Given the description of an element on the screen output the (x, y) to click on. 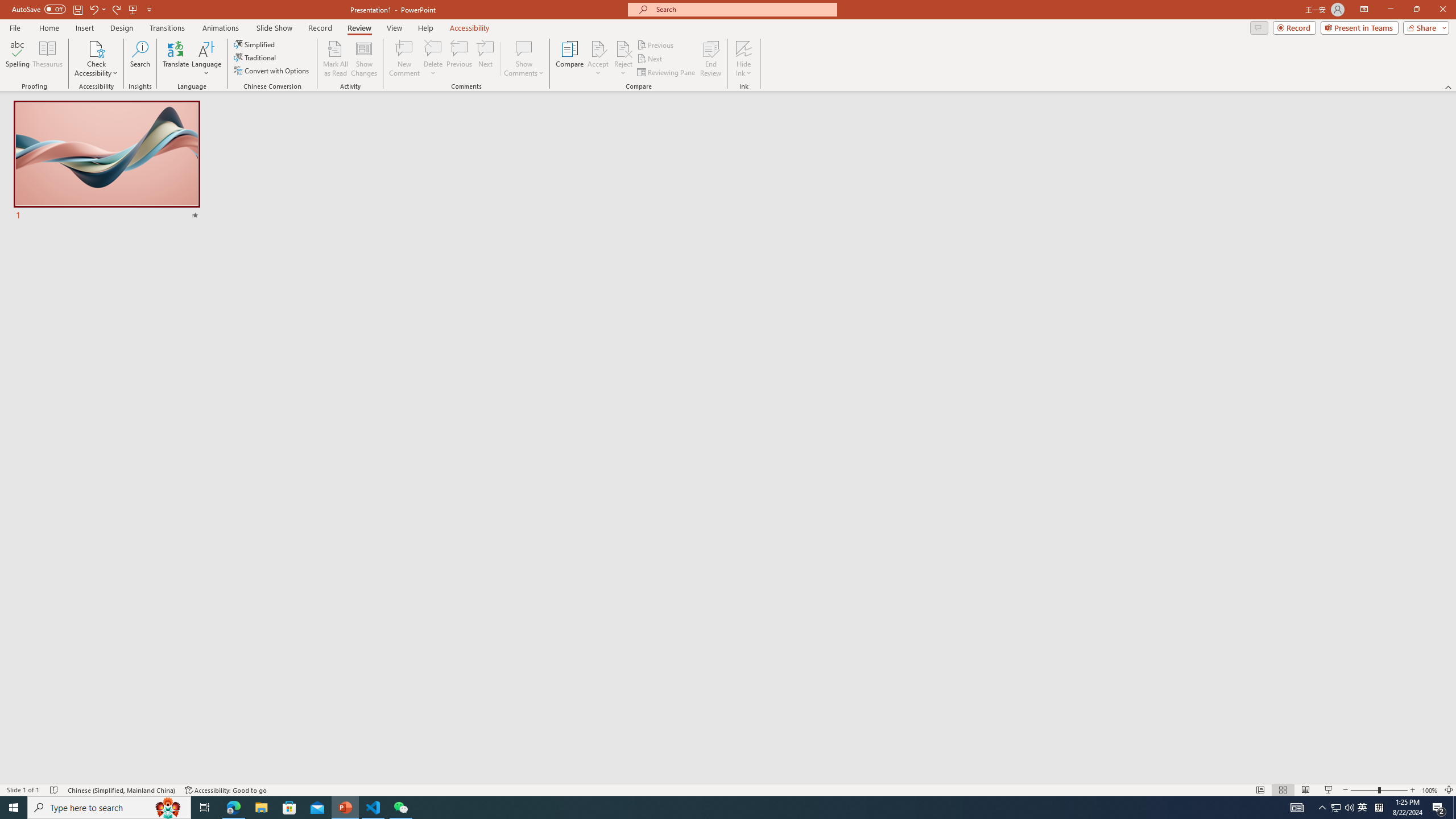
Next (649, 58)
Slide (106, 161)
Accept (598, 58)
Traditional (255, 56)
Delete (432, 58)
Accessibility (469, 28)
